Given the description of an element on the screen output the (x, y) to click on. 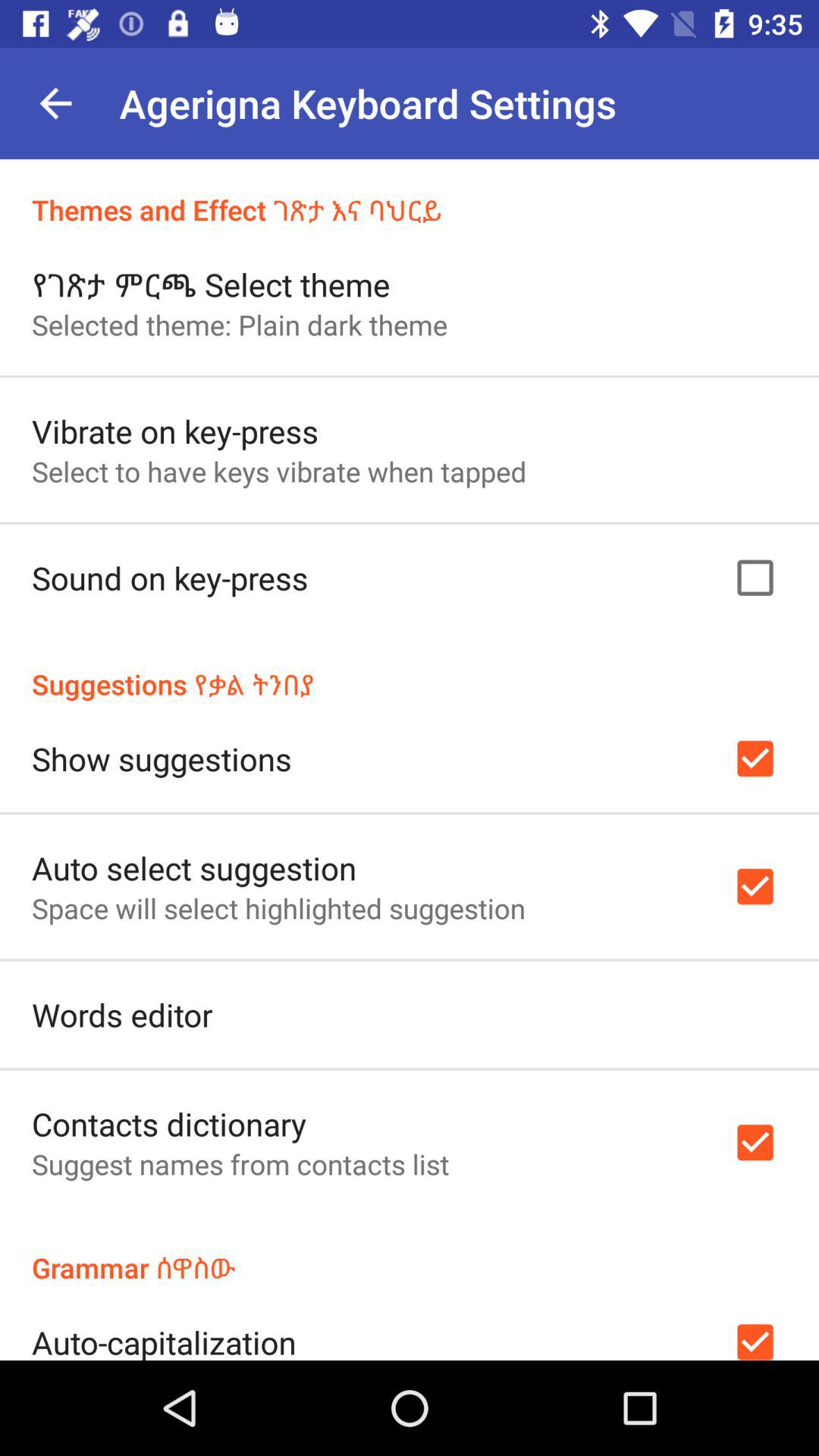
choose icon above suggest names from item (168, 1123)
